Given the description of an element on the screen output the (x, y) to click on. 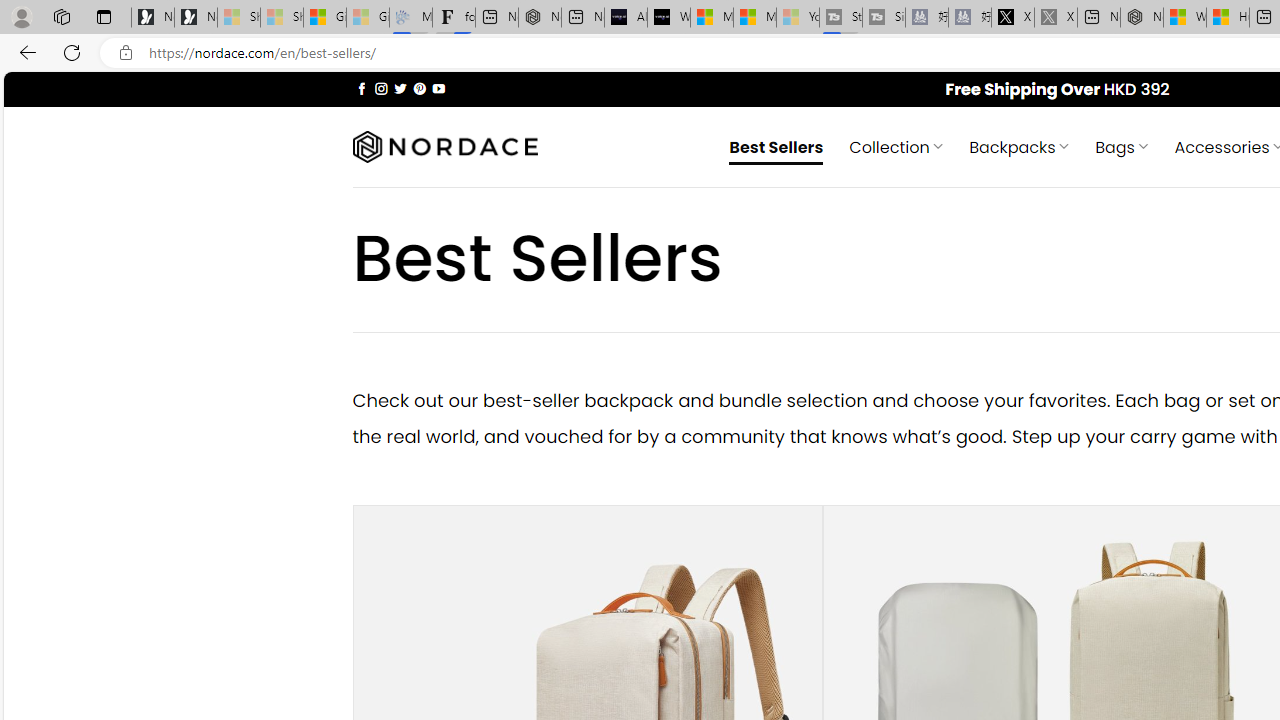
  Best Sellers (776, 146)
